Given the description of an element on the screen output the (x, y) to click on. 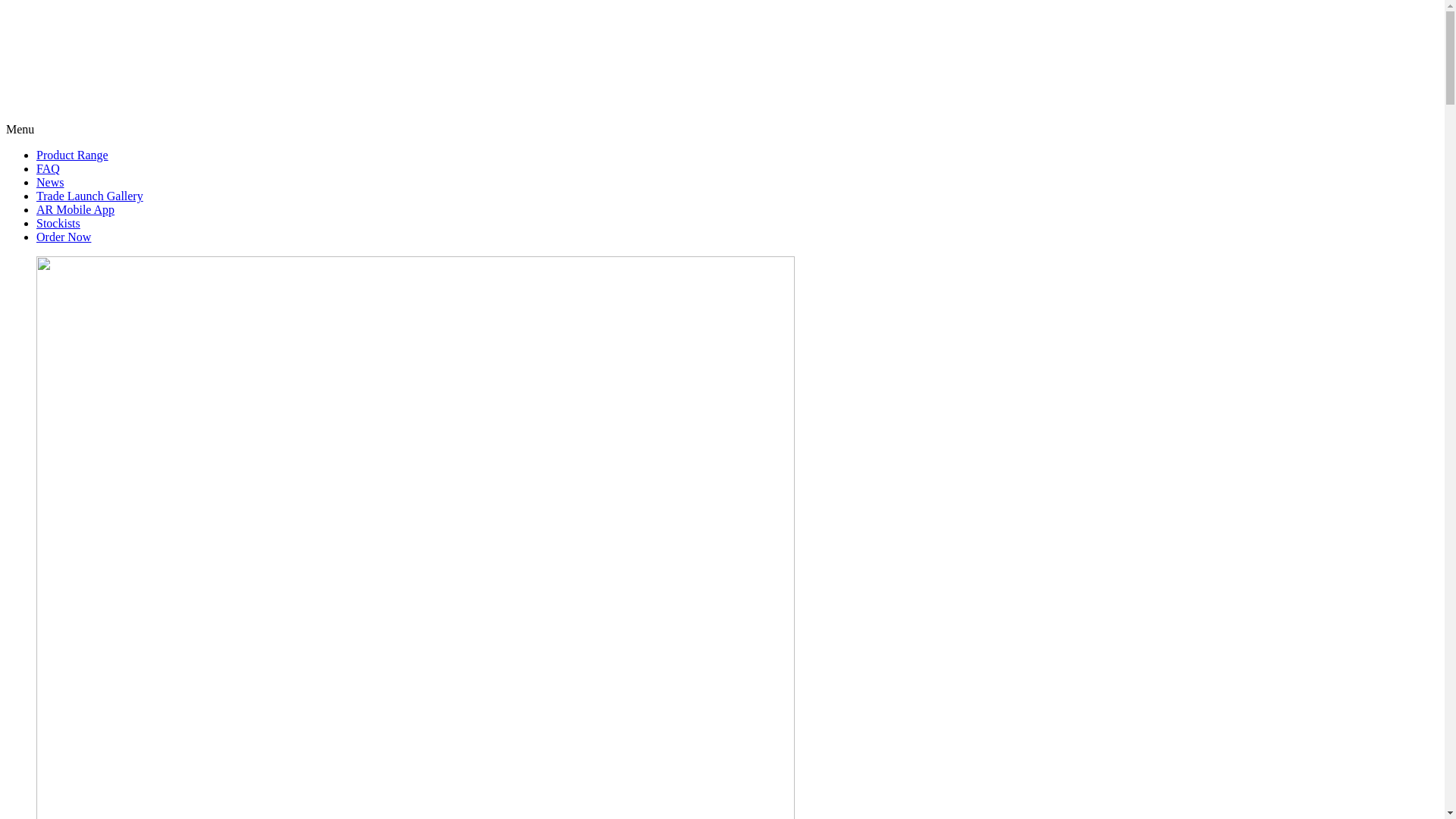
Order Now Element type: text (63, 236)
News Element type: text (49, 181)
AR Mobile App Element type: text (75, 209)
FAQ Element type: text (47, 168)
Stockists Element type: text (58, 222)
Product Range Element type: text (72, 154)
Trade Launch Gallery Element type: text (89, 195)
